Given the description of an element on the screen output the (x, y) to click on. 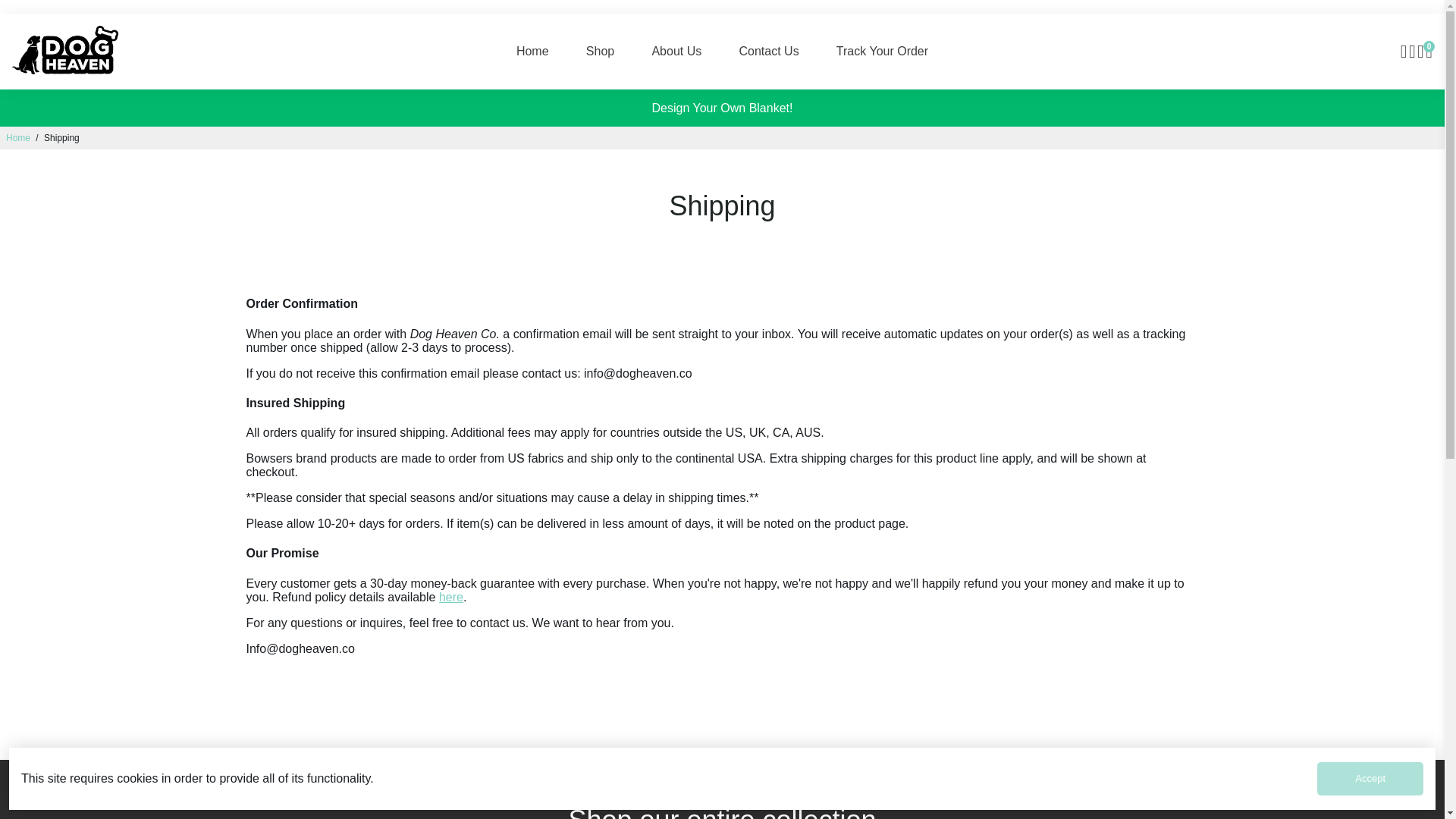
Home (17, 137)
Track Your Order (882, 51)
Design Your Own Blanket! (722, 107)
About Us (676, 51)
Contact Us (768, 51)
